Given the description of an element on the screen output the (x, y) to click on. 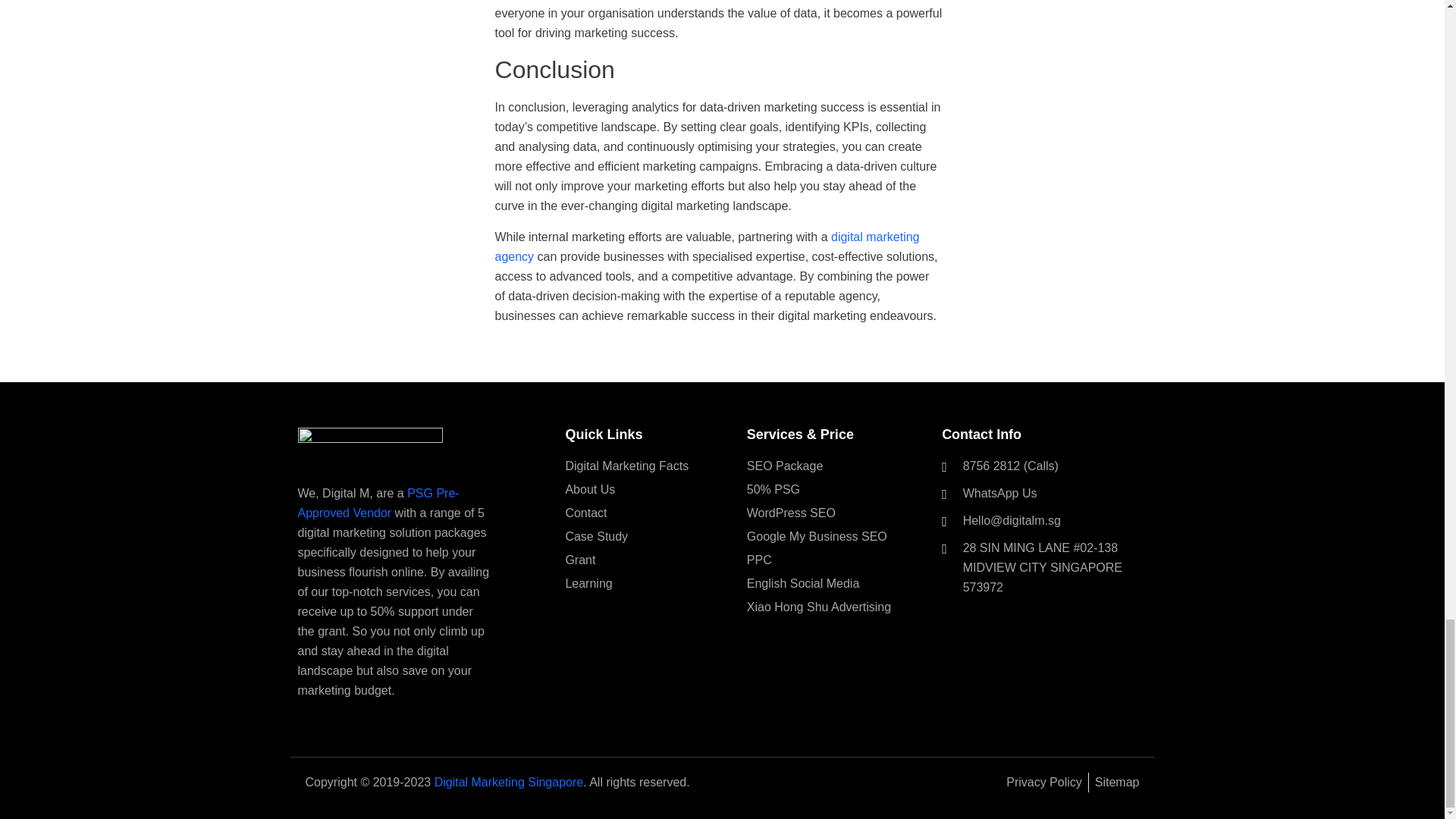
digital marketing agency (707, 246)
